Given the description of an element on the screen output the (x, y) to click on. 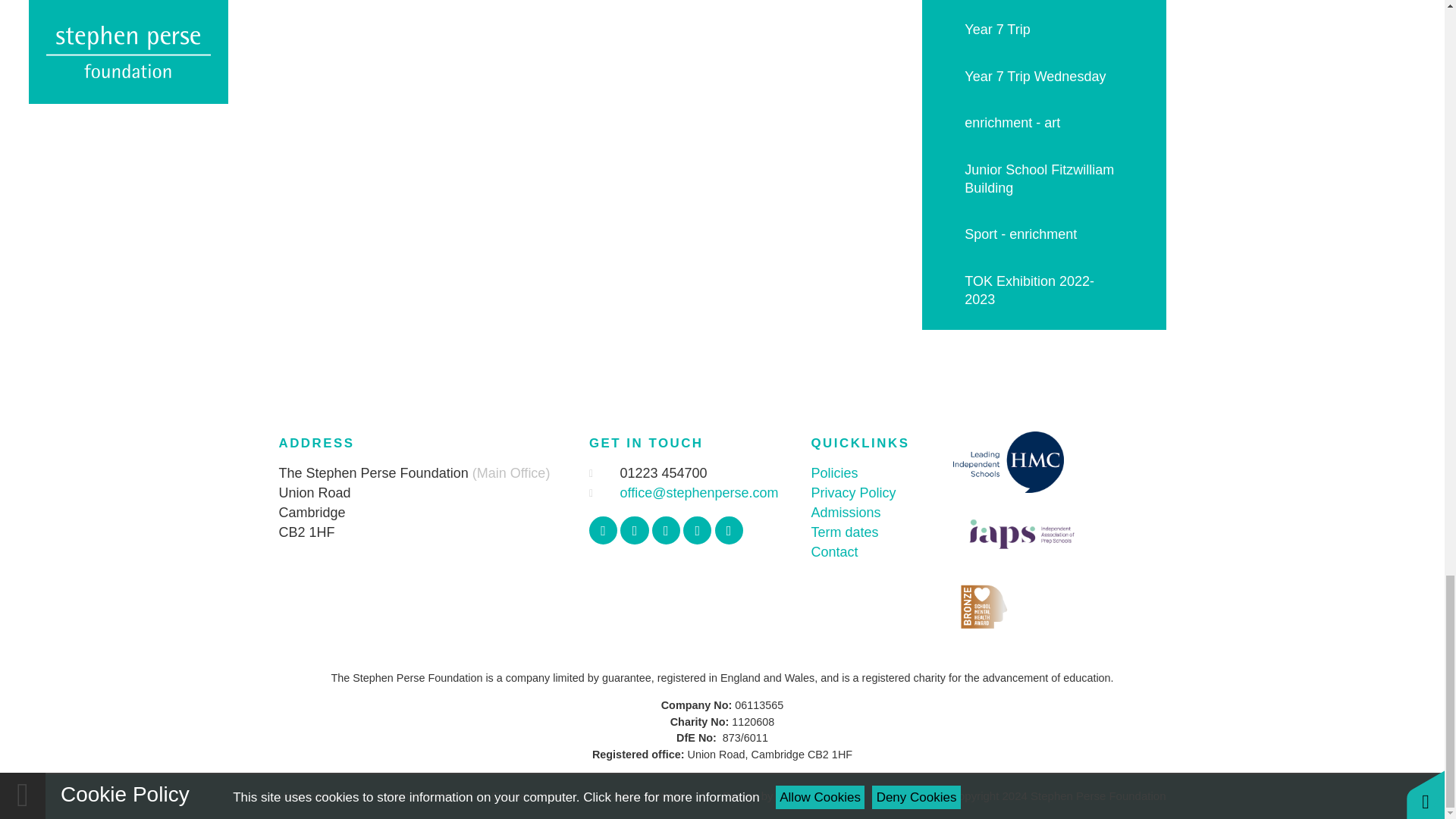
Facebook (603, 530)
Twitter (633, 530)
YouTube (696, 530)
LinkedIn (728, 530)
Cookie Settings (644, 795)
Instagram (665, 530)
